Given the description of an element on the screen output the (x, y) to click on. 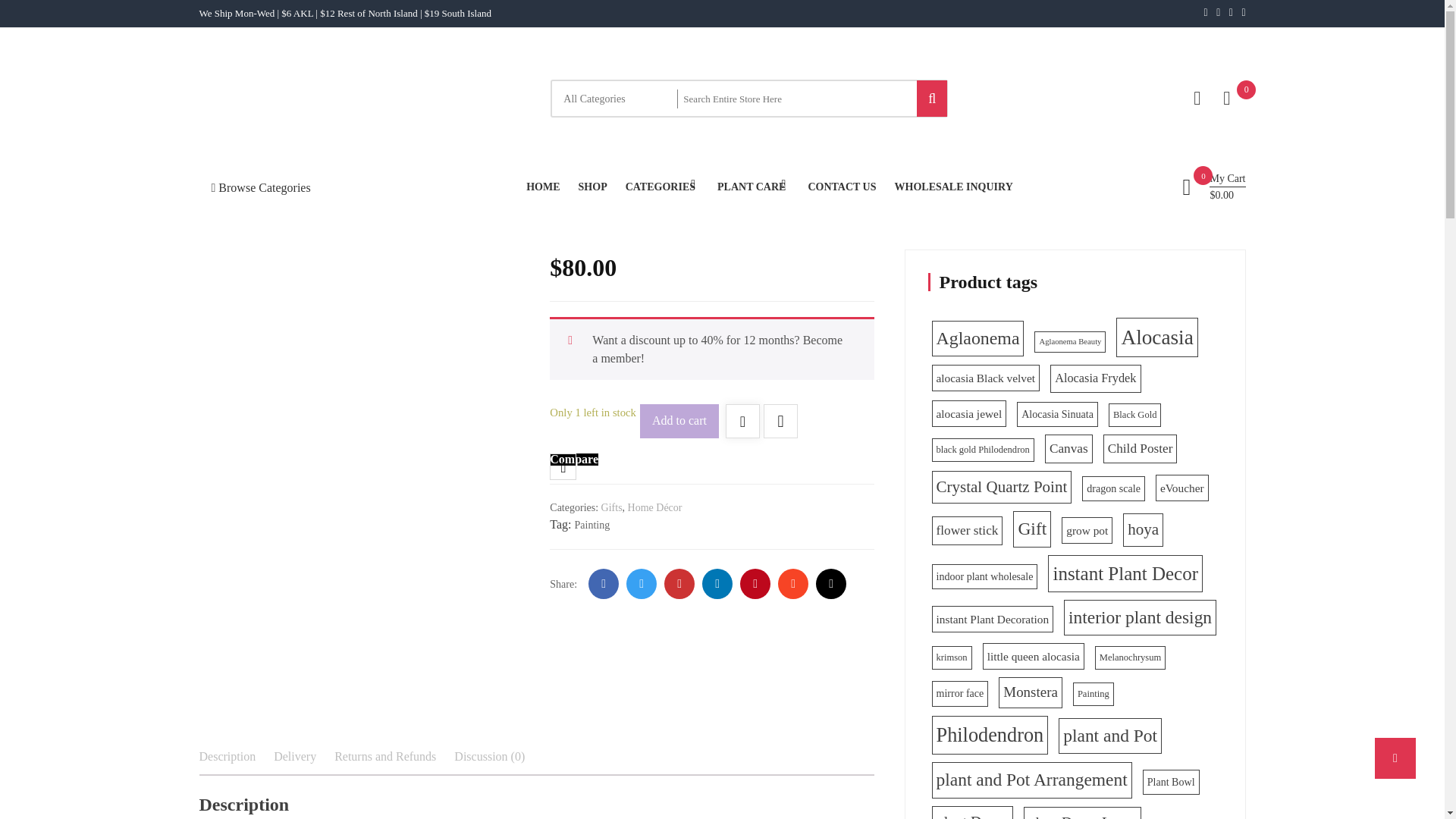
Urban Roots (248, 167)
Add to Wishlist (742, 421)
